Given the description of an element on the screen output the (x, y) to click on. 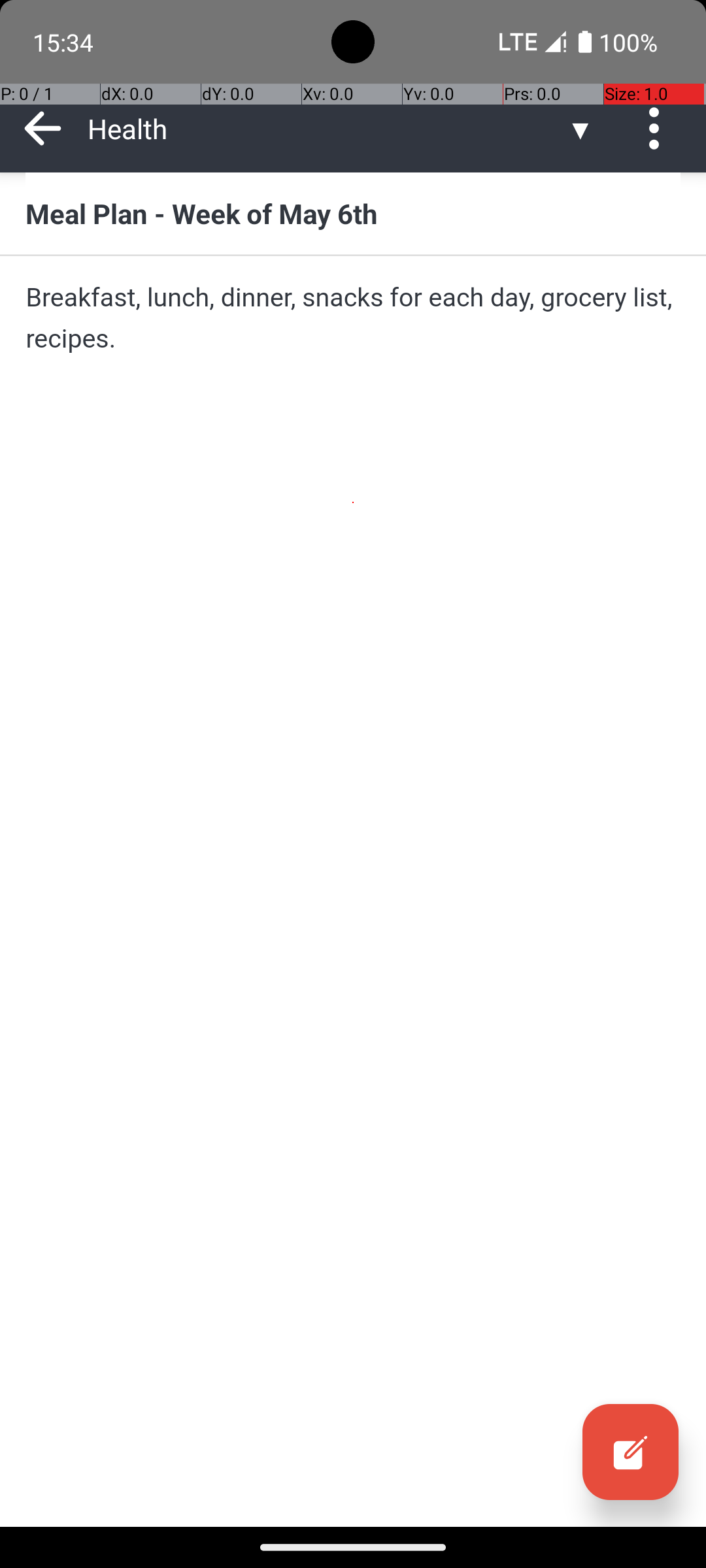
Meal Plan - Week of May 6th Element type: android.widget.EditText (352, 213)
Breakfast, lunch, dinner, snacks for each day, grocery list, recipes. Element type: android.widget.TextView (352, 317)
